Given the description of an element on the screen output the (x, y) to click on. 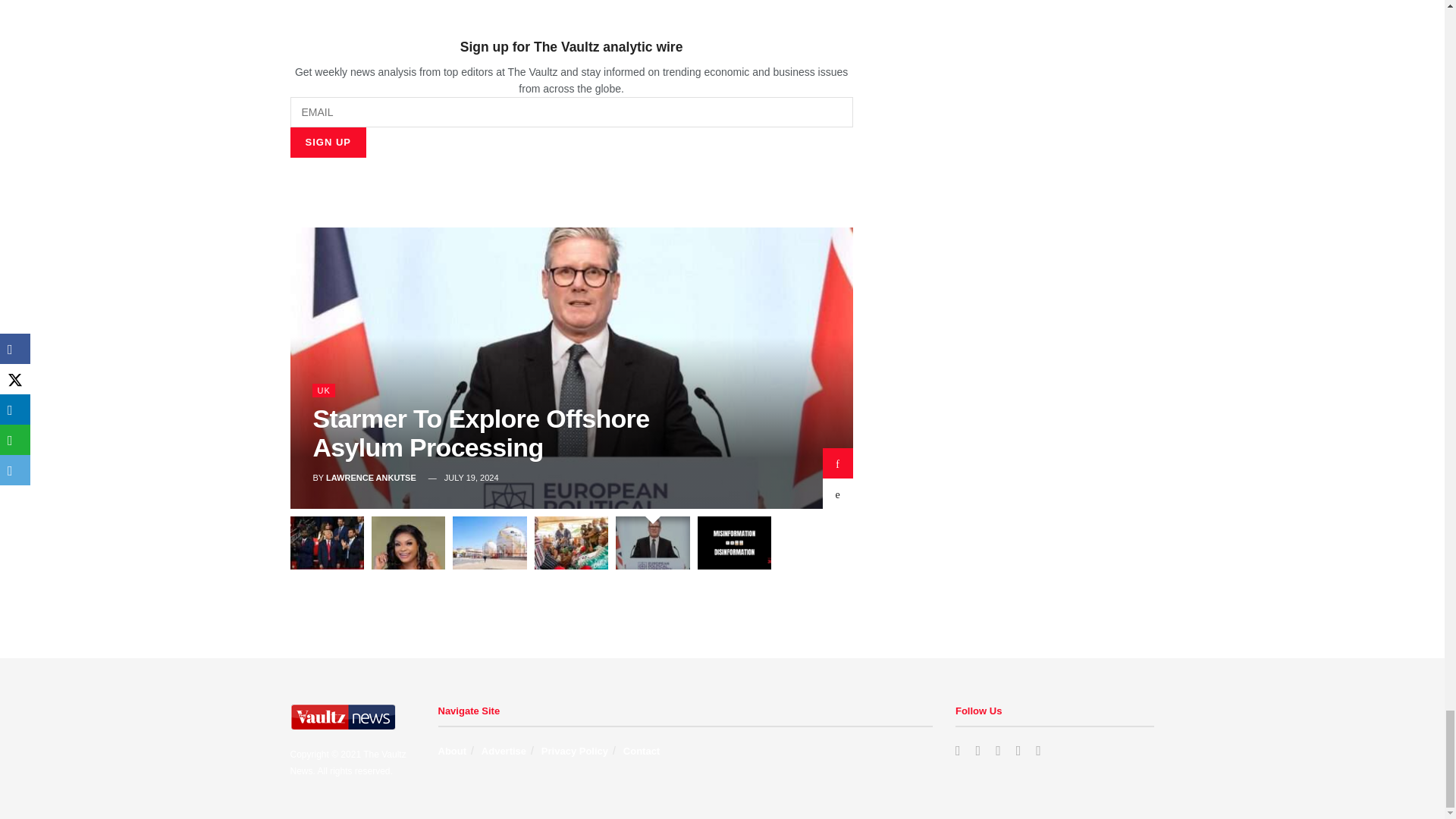
Sign up (327, 142)
